Given the description of an element on the screen output the (x, y) to click on. 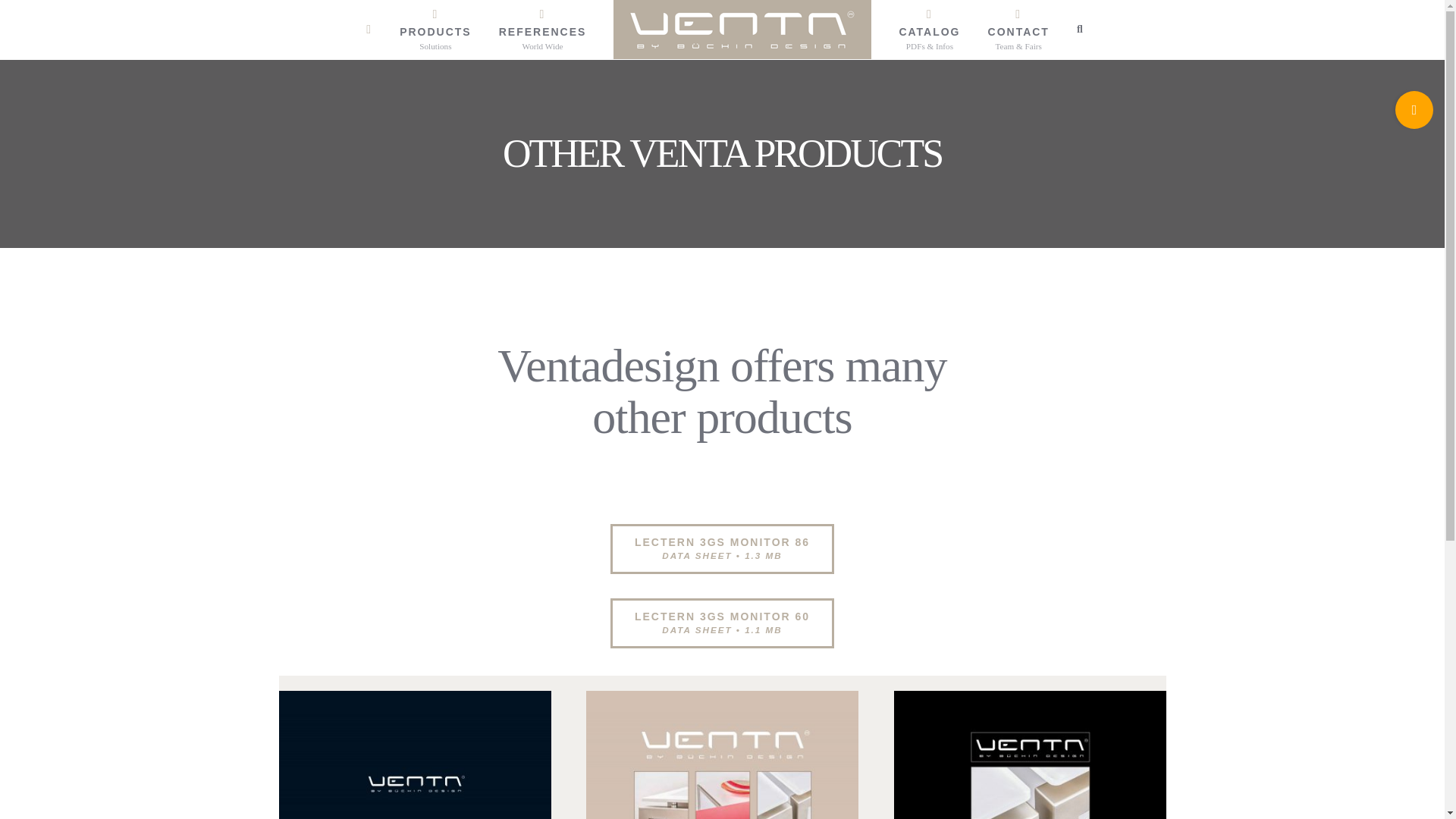
Lectern 3GS Monitor 60 (542, 29)
Lectern 3GS Monitor 86 (722, 623)
Ventadesign offers many other products (722, 549)
